Given the description of an element on the screen output the (x, y) to click on. 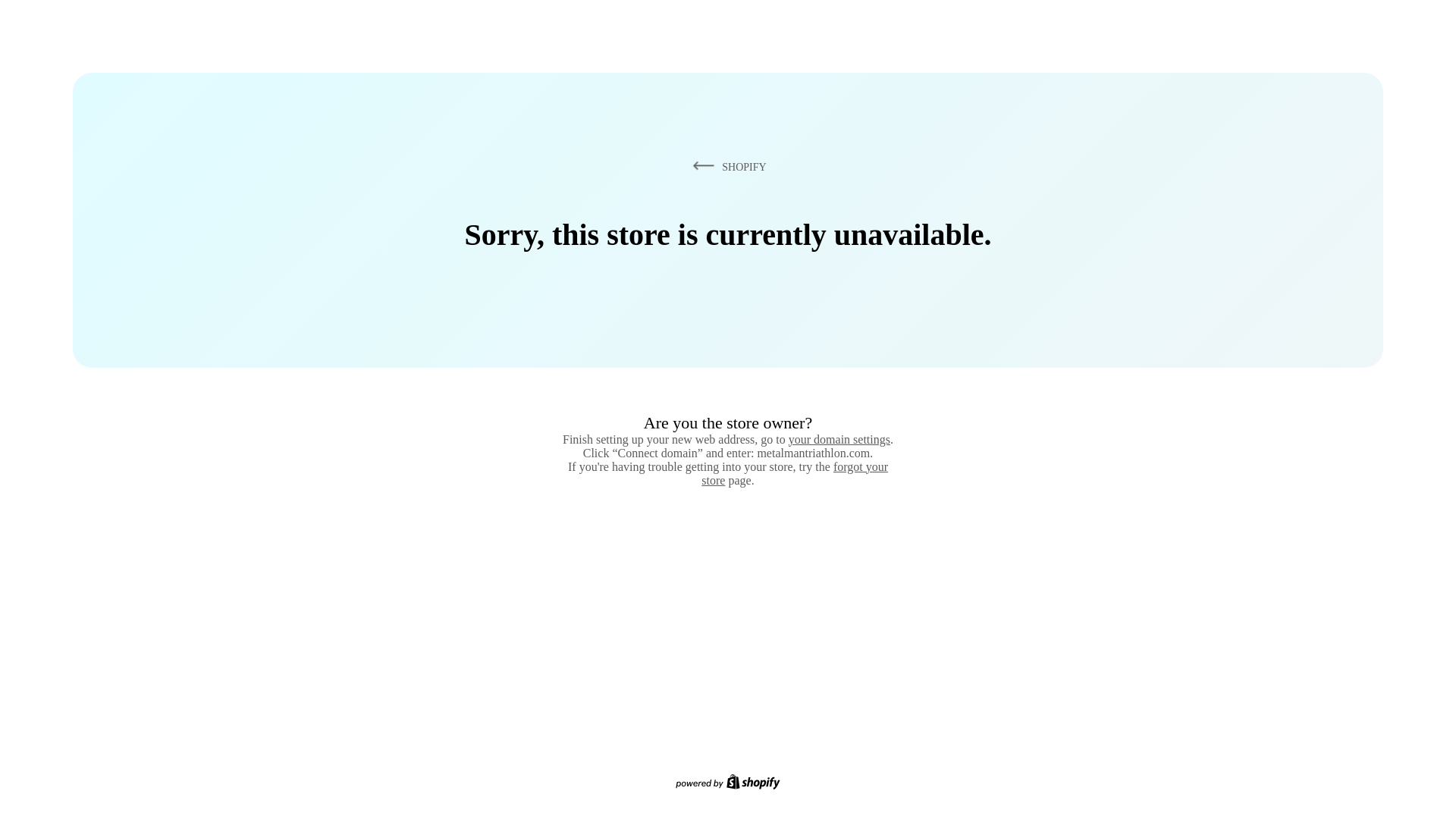
forgot your store (794, 473)
SHOPIFY (726, 166)
your domain settings (839, 439)
